Given the description of an element on the screen output the (x, y) to click on. 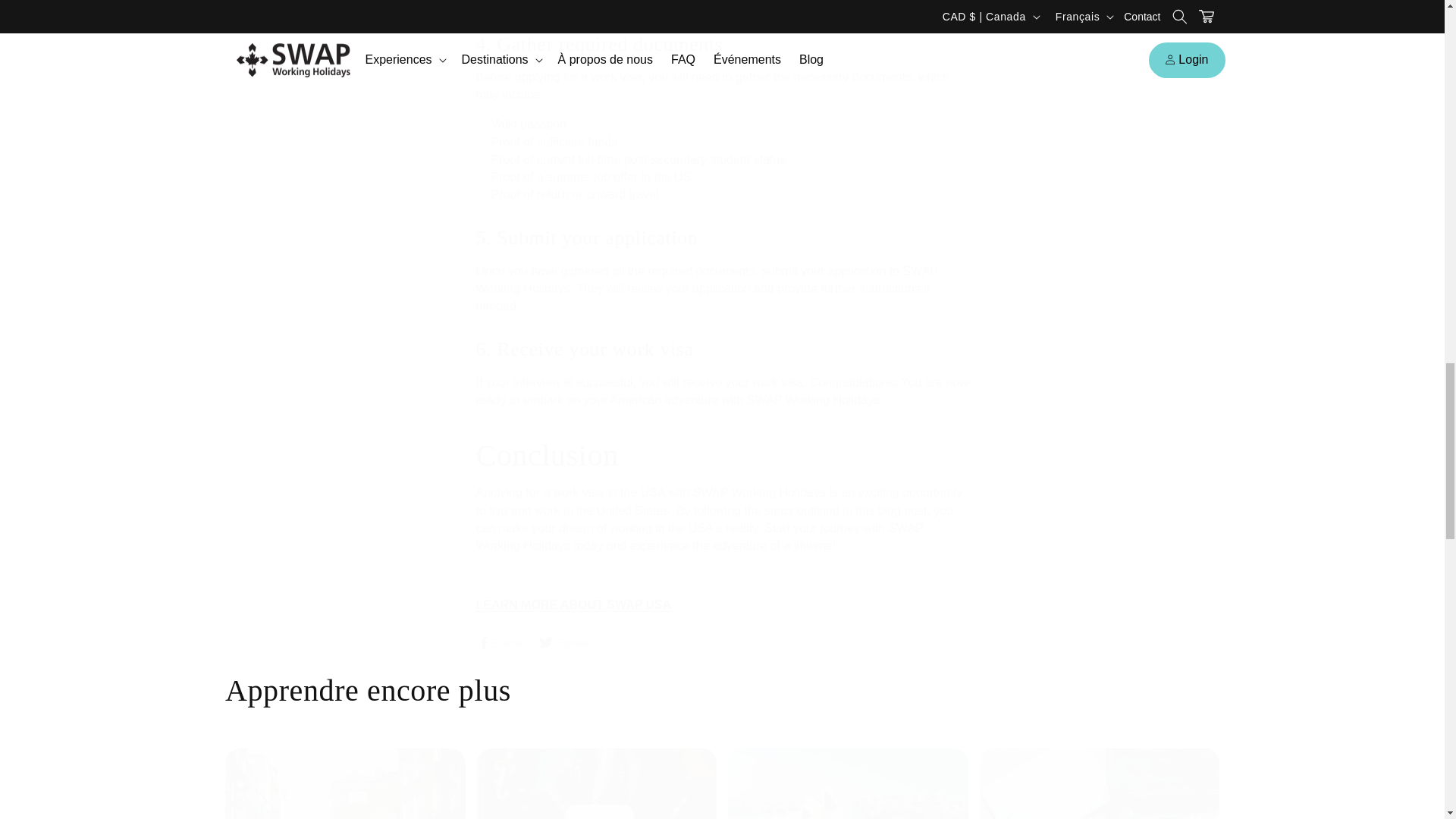
Work in the USA - SWAP Working Holidays (573, 604)
